Given the description of an element on the screen output the (x, y) to click on. 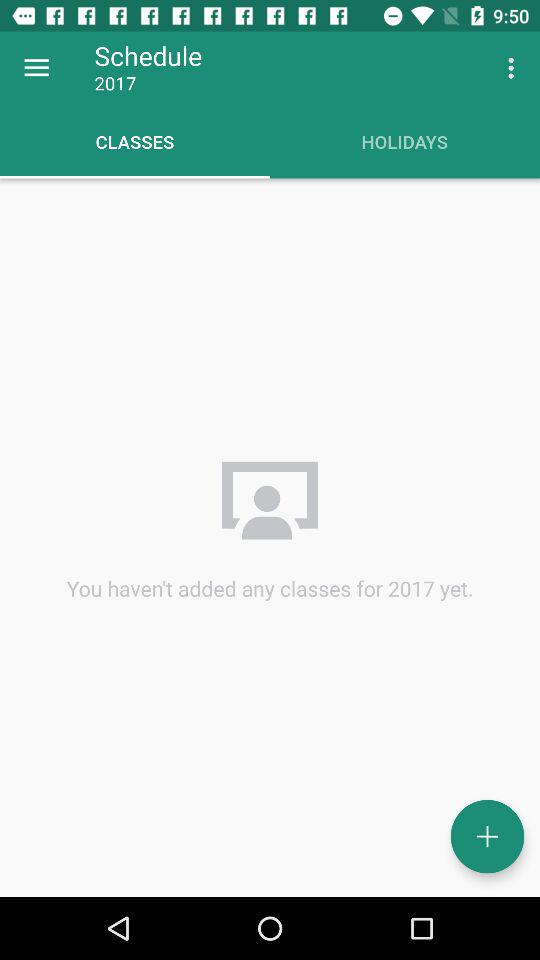
enter add (487, 836)
